Given the description of an element on the screen output the (x, y) to click on. 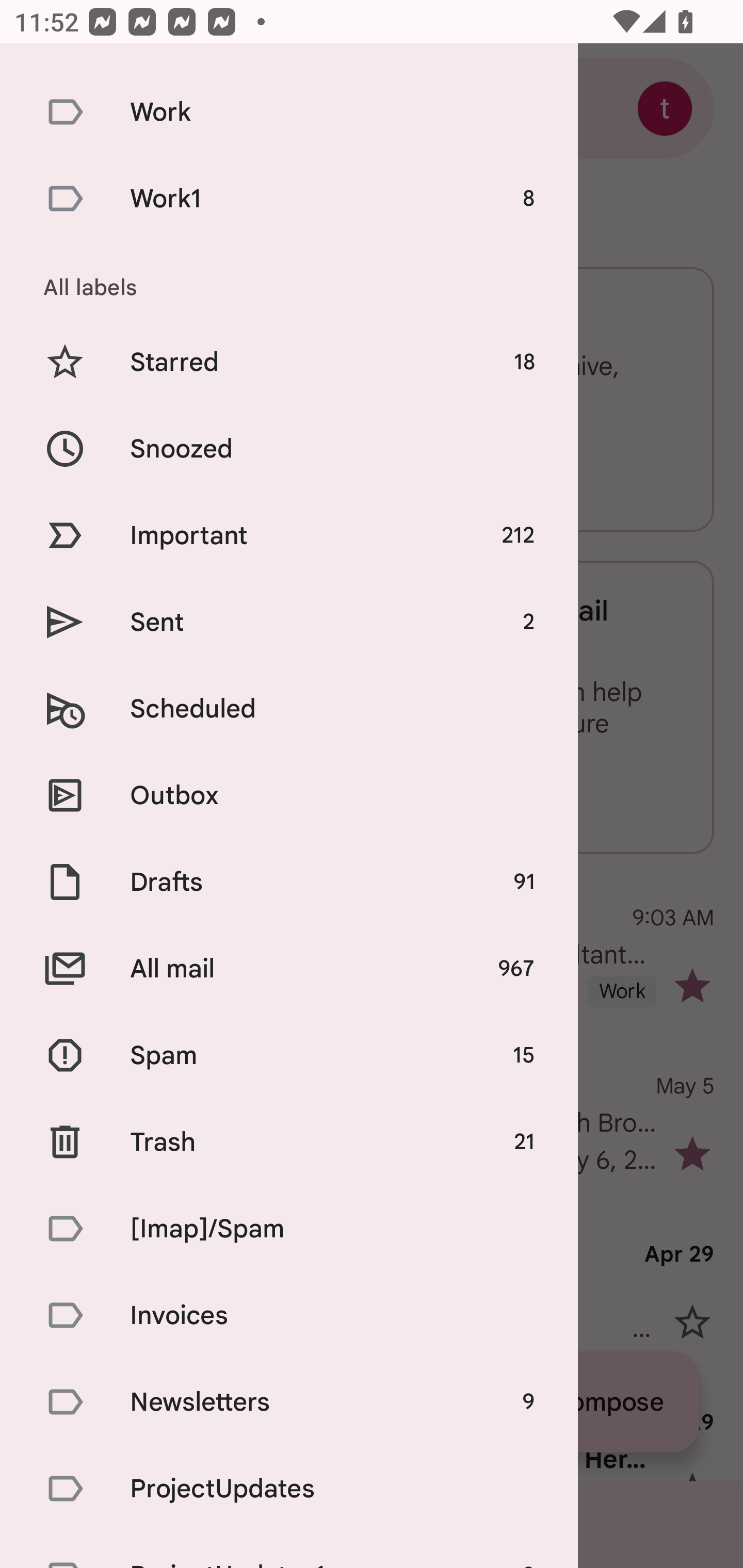
Work (289, 111)
Work1 8 (289, 198)
Starred 18 (289, 362)
Snoozed (289, 449)
Important 212 (289, 535)
Sent 2 (289, 621)
Scheduled (289, 708)
Outbox (289, 795)
Drafts 91 (289, 881)
All mail 967 (289, 968)
Spam 15 (289, 1055)
Trash 21 (289, 1142)
[Imap]/Spam (289, 1228)
Invoices (289, 1314)
Newsletters 9 (289, 1401)
ProjectUpdates (289, 1488)
